Given the description of an element on the screen output the (x, y) to click on. 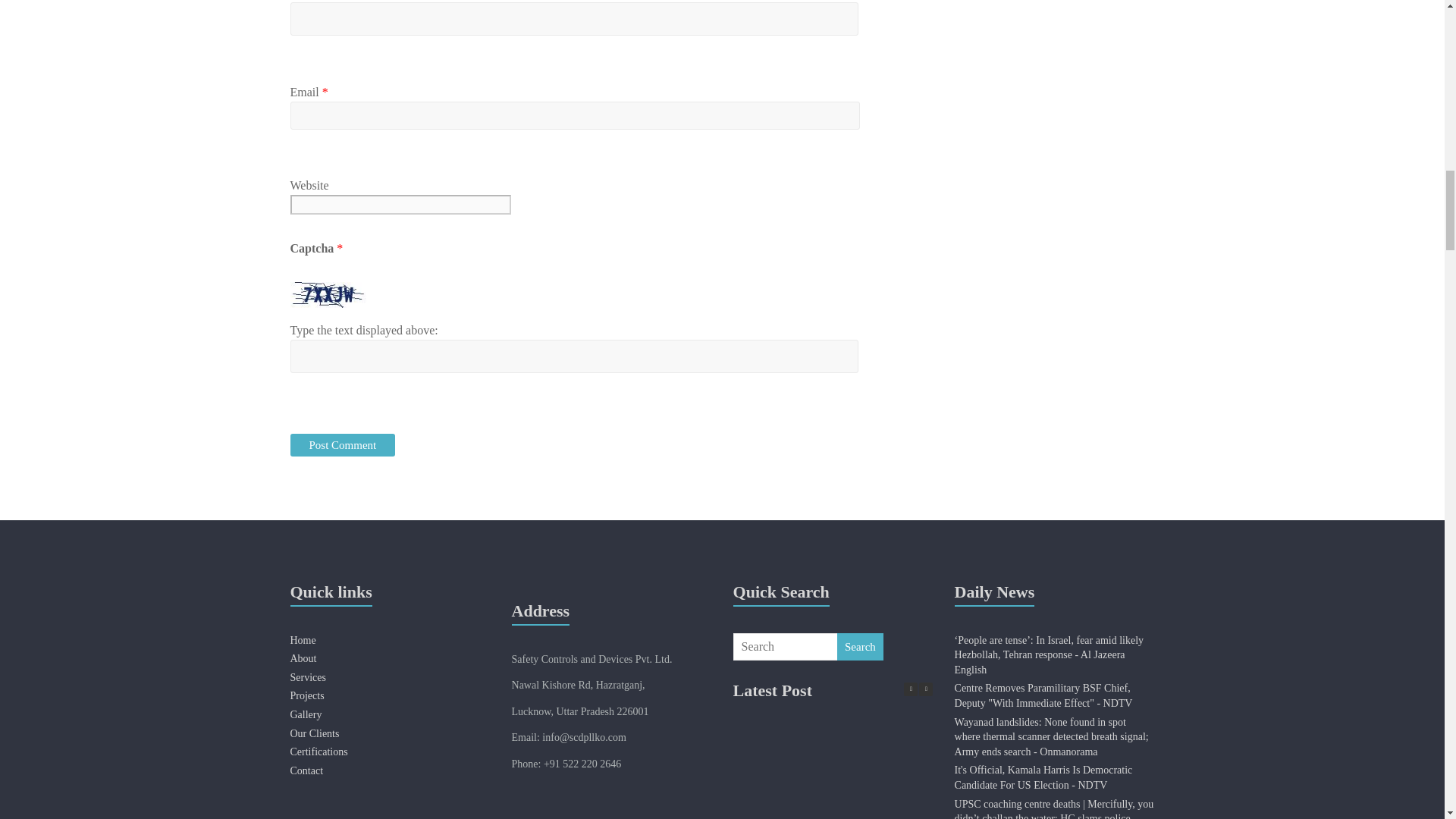
Search (860, 646)
Next (925, 689)
Contact (306, 770)
Services (306, 677)
Onmanorama (1051, 736)
Home (302, 640)
The Indian Express (1054, 808)
Previous (910, 689)
About (302, 658)
Post Comment (341, 445)
Projects (306, 695)
Gallery (305, 714)
Certifications (318, 751)
